Given the description of an element on the screen output the (x, y) to click on. 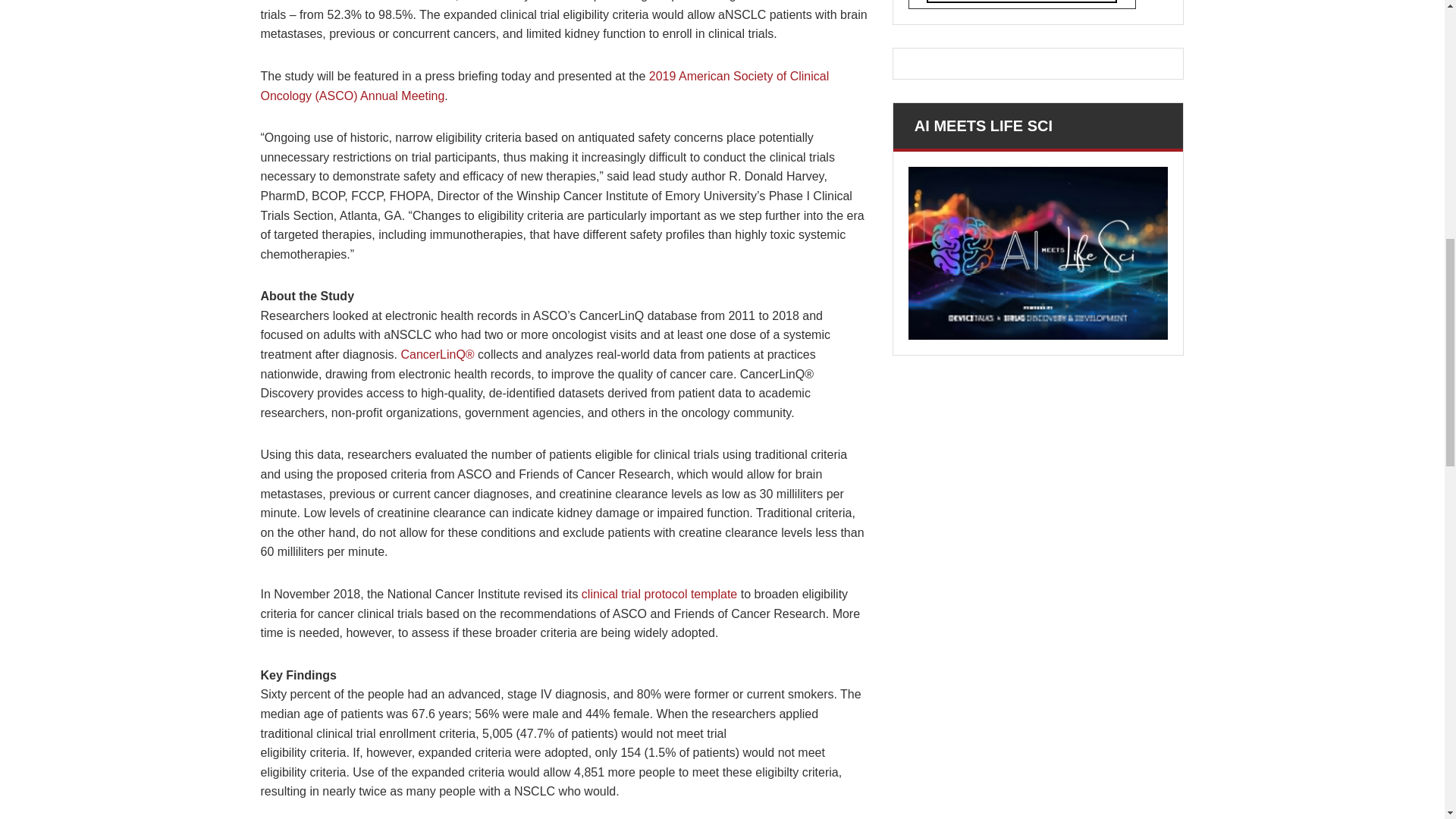
clinical trial protocol template (658, 594)
